Given the description of an element on the screen output the (x, y) to click on. 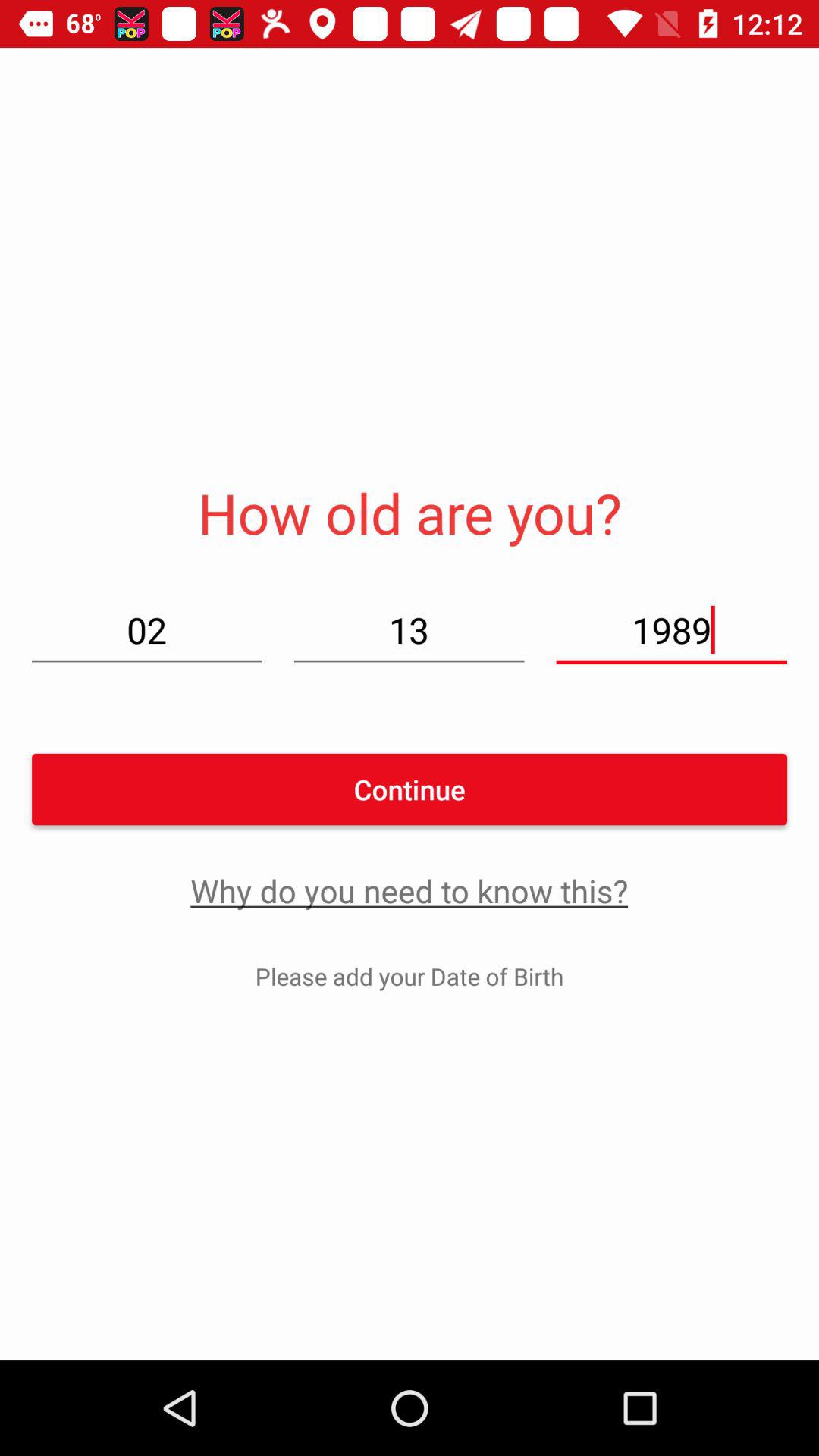
open continue (409, 789)
